Given the description of an element on the screen output the (x, y) to click on. 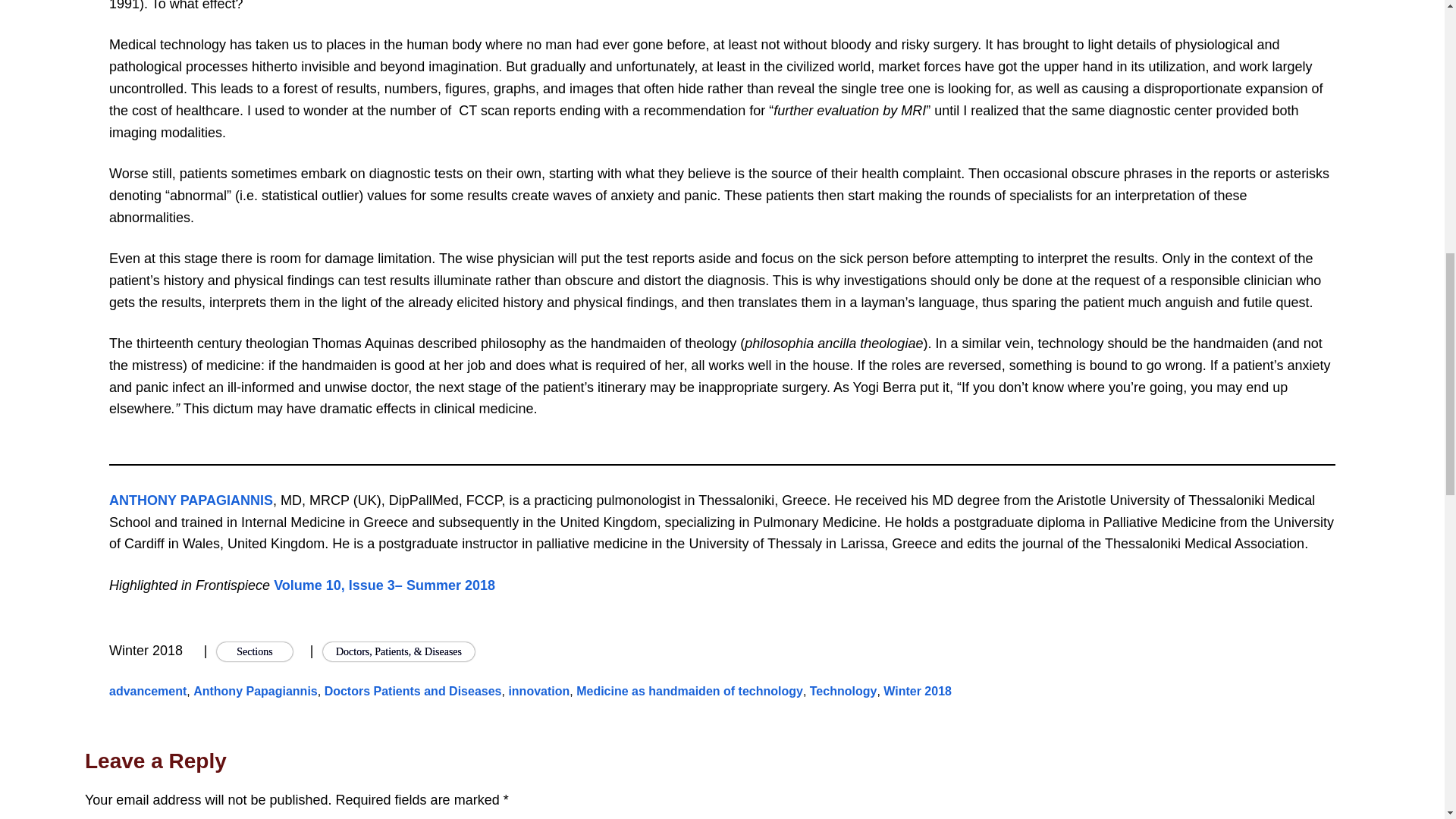
Sections (254, 651)
Doctors Patients and Diseases (413, 690)
Technology (843, 690)
Anthony Papagiannis (255, 690)
ANTHONY PAPAGIANNIS (191, 500)
Sections (254, 651)
innovation (538, 690)
Medicine as handmaiden of technology (689, 690)
Winter 2018 (917, 690)
advancement (147, 690)
